Given the description of an element on the screen output the (x, y) to click on. 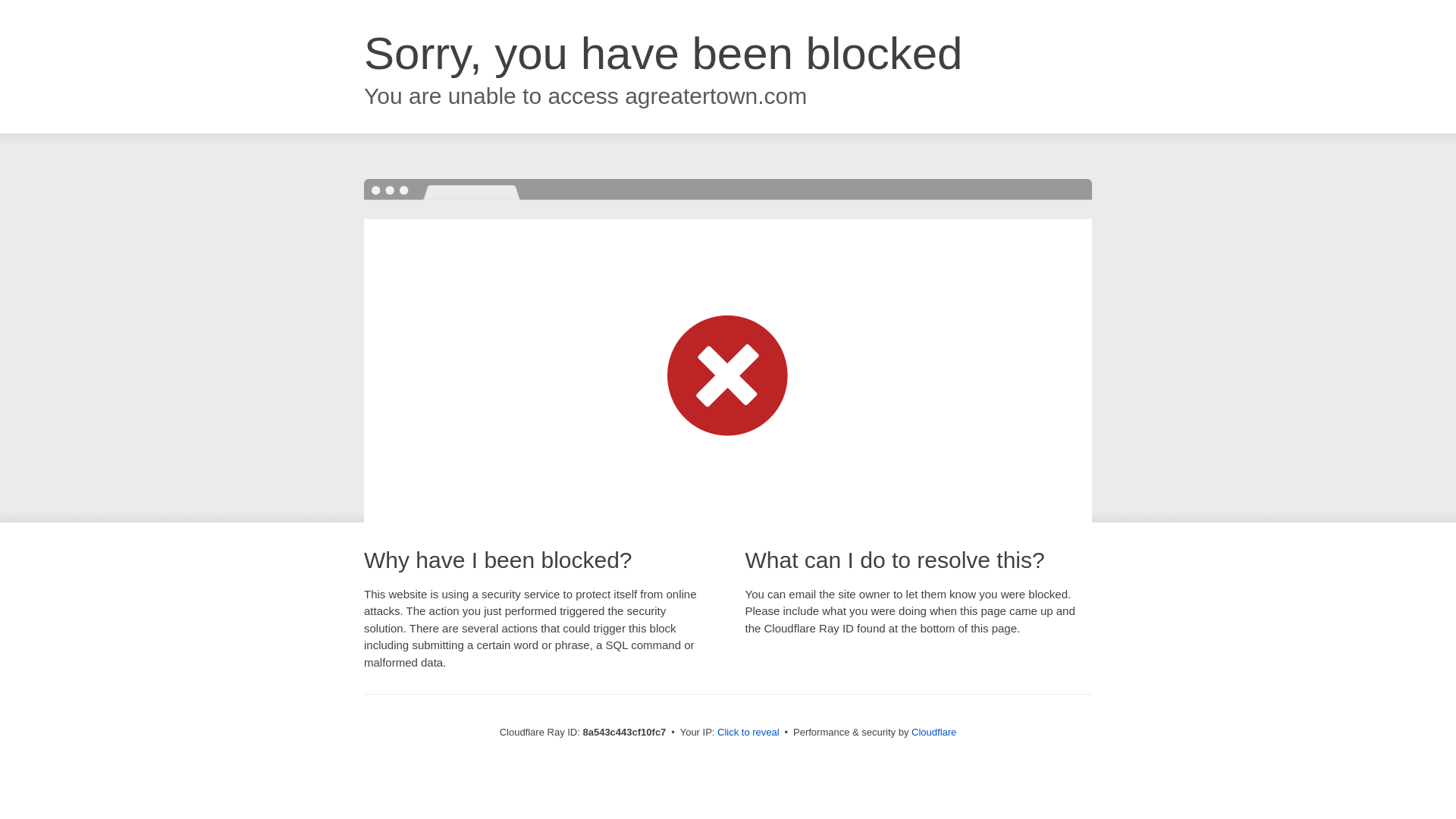
Click to reveal (747, 732)
Cloudflare (933, 731)
